Given the description of an element on the screen output the (x, y) to click on. 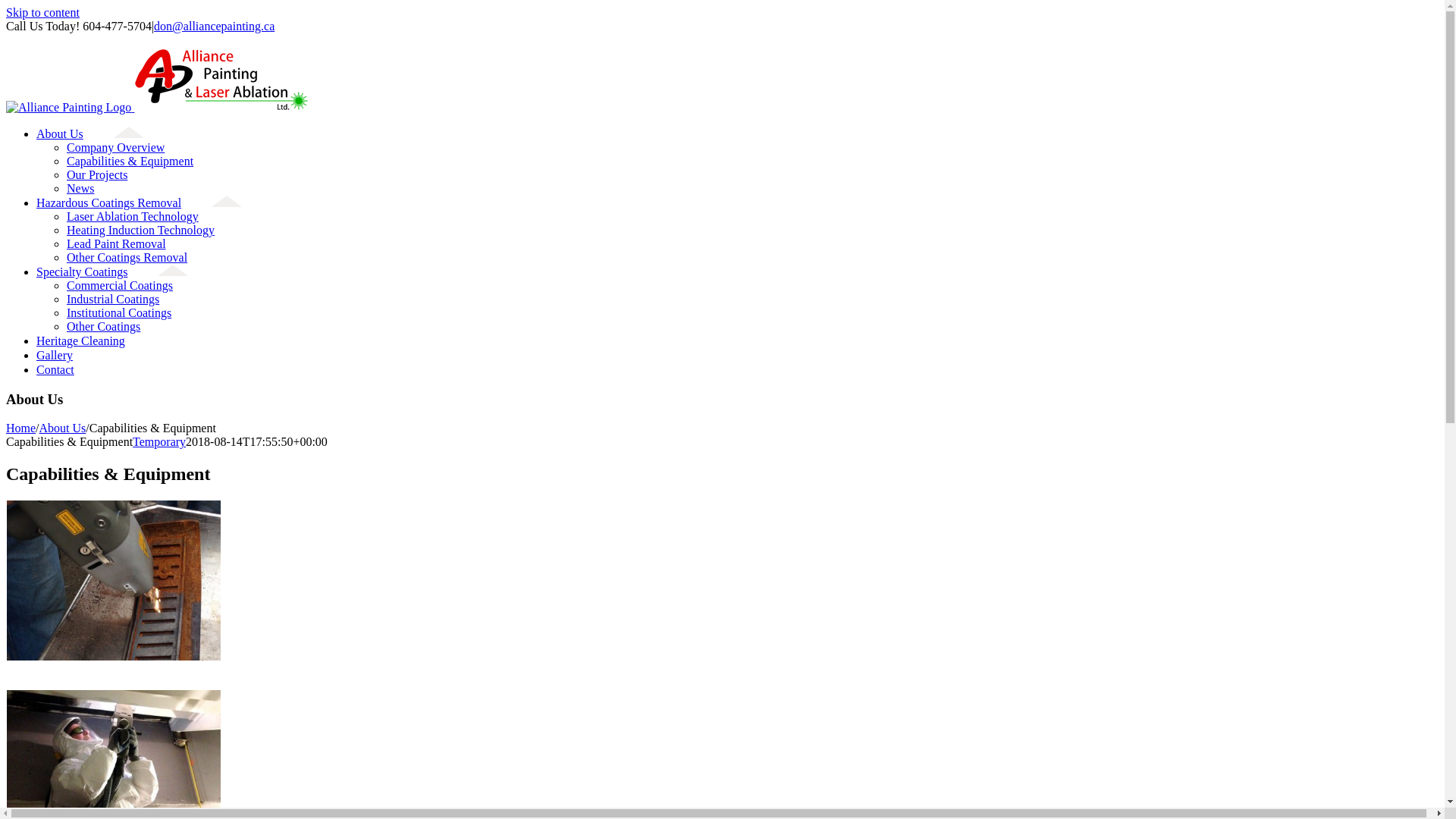
Institutional Coatings Element type: text (118, 312)
Capabilities & Equipment Element type: text (129, 160)
Facebook Element type: text (29, 39)
Hazardous Coatings Removal Element type: text (138, 202)
News Element type: text (80, 188)
Company Overview Element type: text (115, 147)
Home Element type: text (20, 427)
Commercial Coatings Element type: text (119, 285)
don@alliancepainting.ca Element type: text (213, 25)
LinkedIn Element type: text (75, 39)
Lead Paint Removal Element type: text (116, 243)
Capabilities Element type: hover (112, 580)
Heating Induction Technology Element type: text (140, 229)
Specialty Coatings Element type: text (112, 271)
Our Projects Element type: text (96, 174)
Heritage Cleaning Element type: text (95, 340)
Other Coatings Element type: text (103, 326)
About Us Element type: text (90, 133)
Temporary Element type: text (158, 441)
About Us Element type: text (62, 427)
Skip to content Element type: text (42, 12)
Industrial Coatings Element type: text (112, 298)
Contact Element type: text (70, 369)
Gallery Element type: text (69, 354)
Laser Ablation Technology Element type: text (132, 216)
Other Coatings Removal Element type: text (126, 257)
